Given the description of an element on the screen output the (x, y) to click on. 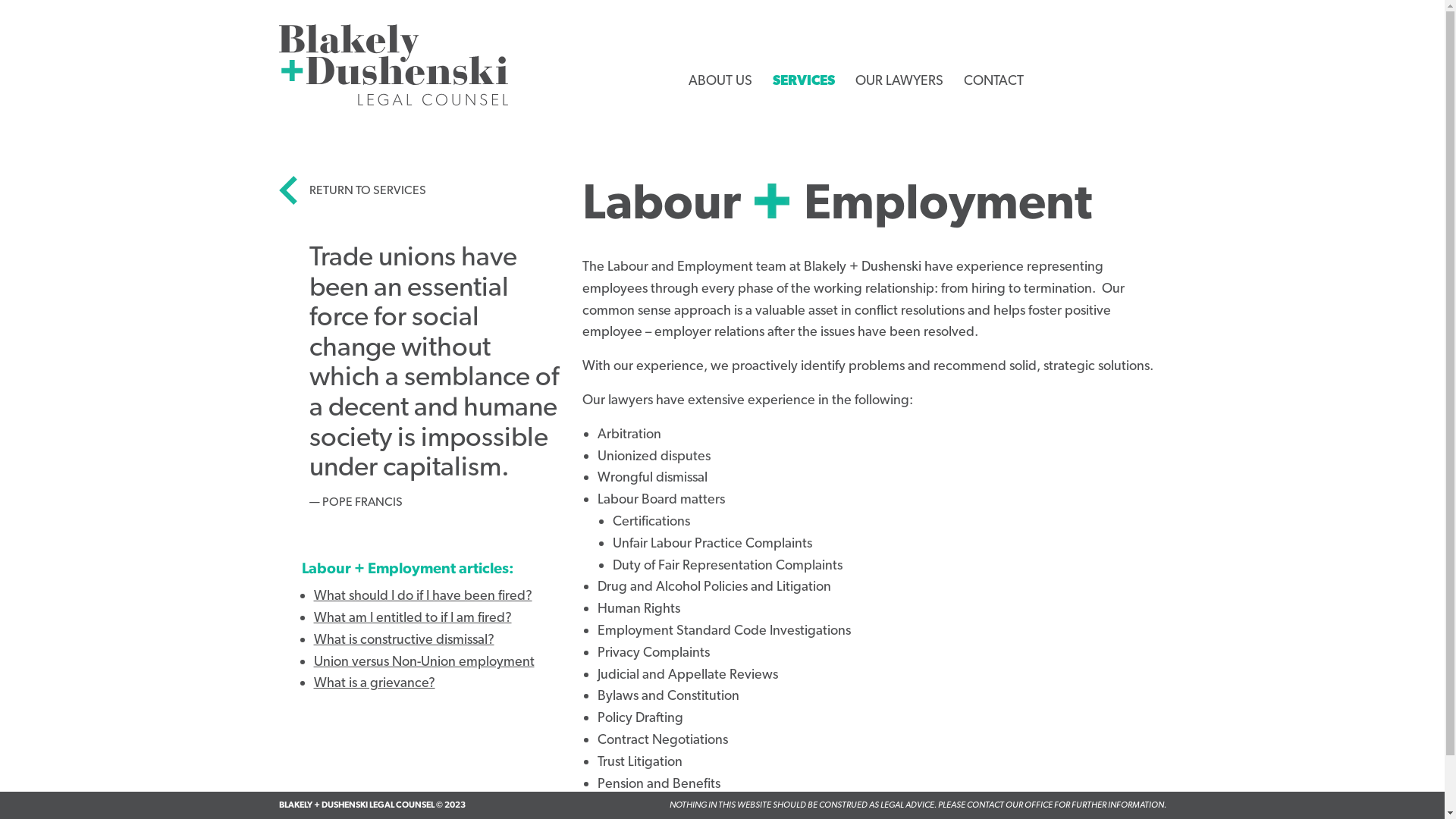
RETURN TO SERVICES Element type: text (352, 189)
ABOUT US Element type: text (720, 80)
What is constructive dismissal? Element type: text (403, 638)
What is a grievance? Element type: text (374, 682)
What am I entitled to if I am fired? Element type: text (412, 616)
OUR LAWYERS Element type: text (899, 80)
SERVICES Element type: text (815, 97)
Union versus Non-Union employment Element type: text (423, 660)
What should I do if I have been fired? Element type: text (422, 594)
CONTACT Element type: text (993, 80)
